Given the description of an element on the screen output the (x, y) to click on. 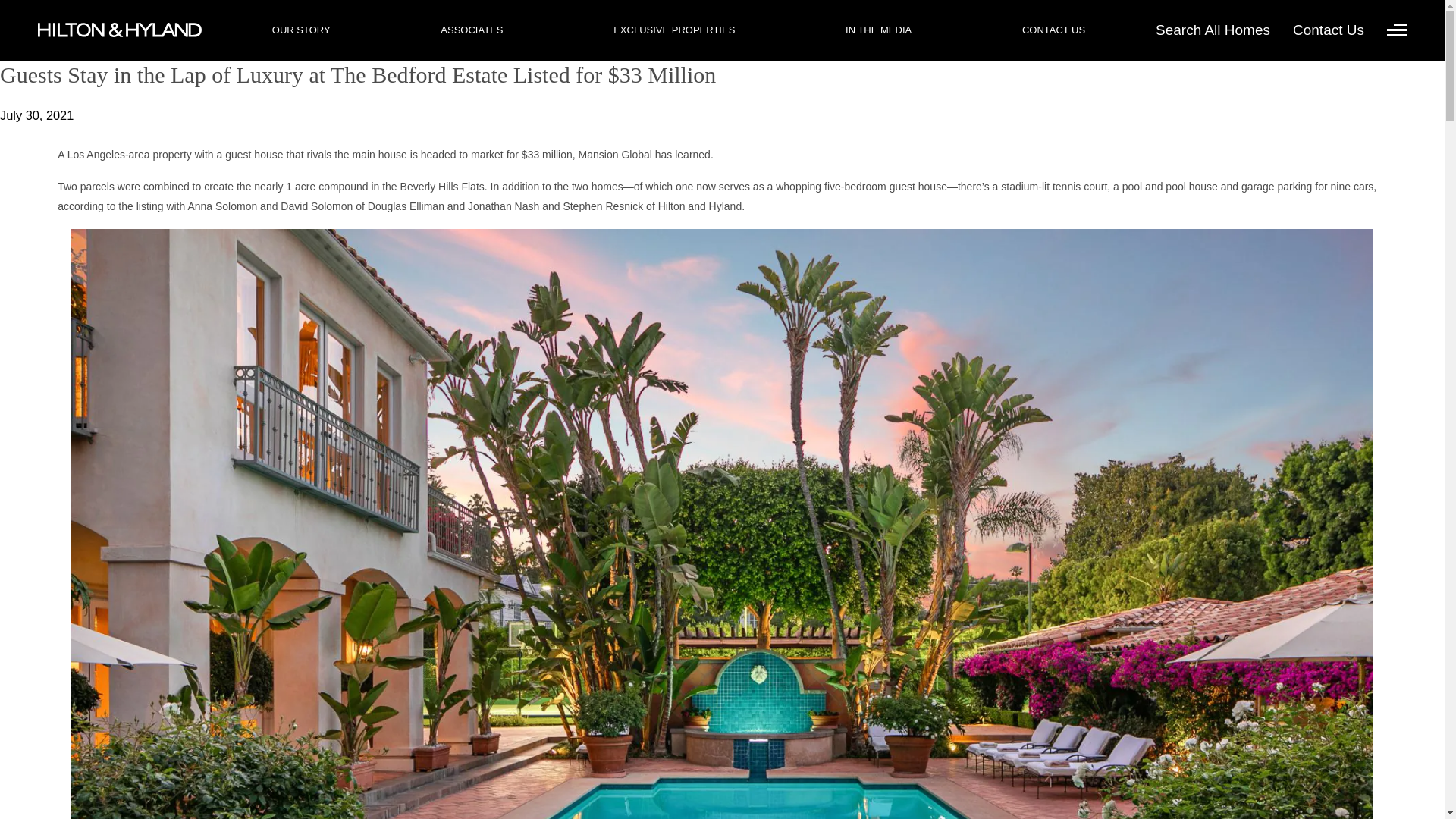
IN THE MEDIA (878, 30)
CONTACT US (1053, 30)
Contact Us (1328, 30)
ASSOCIATES (472, 30)
OUR STORY (300, 30)
Search All Homes (1212, 30)
EXCLUSIVE PROPERTIES (673, 30)
